Given the description of an element on the screen output the (x, y) to click on. 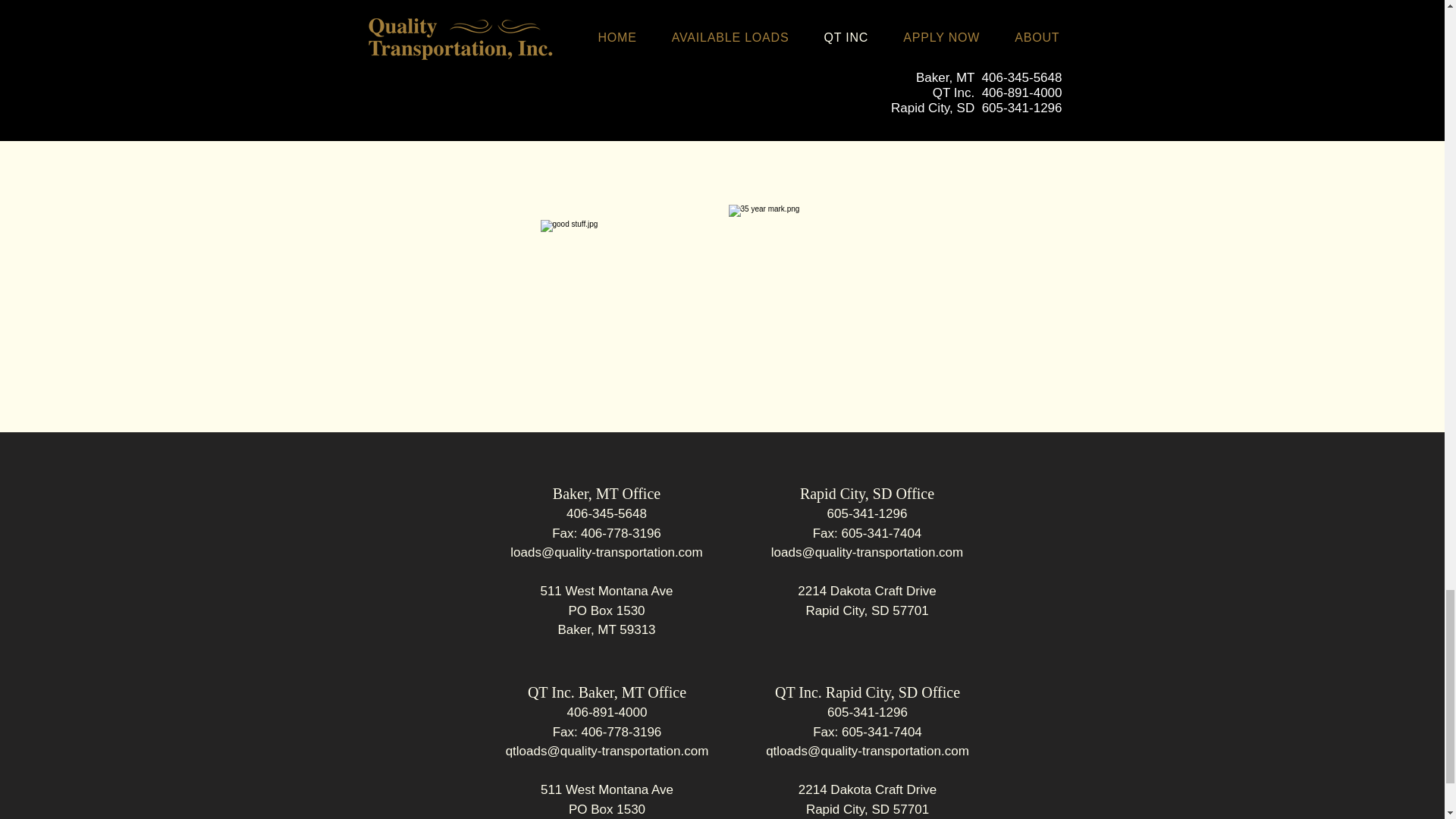
605-341-1296 (867, 513)
406-891-4000 (607, 712)
406-345-5648 (606, 513)
605-341-1296 (867, 712)
Send (723, 48)
